Given the description of an element on the screen output the (x, y) to click on. 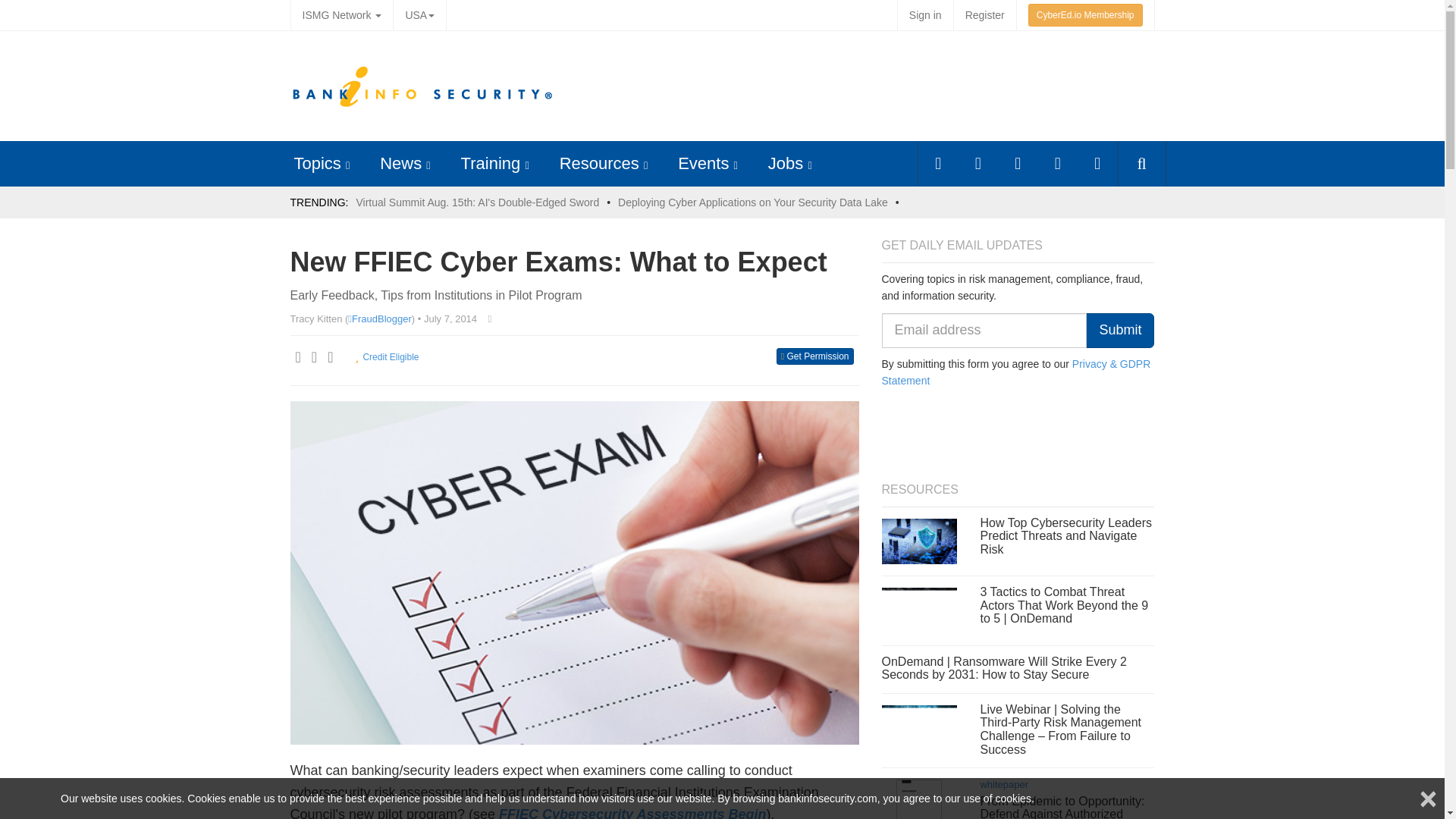
USA (418, 15)
Topics (317, 162)
CyberEd.io Membership (1084, 15)
ISMG Network (341, 15)
Sign in (925, 15)
Register (984, 15)
